Given the description of an element on the screen output the (x, y) to click on. 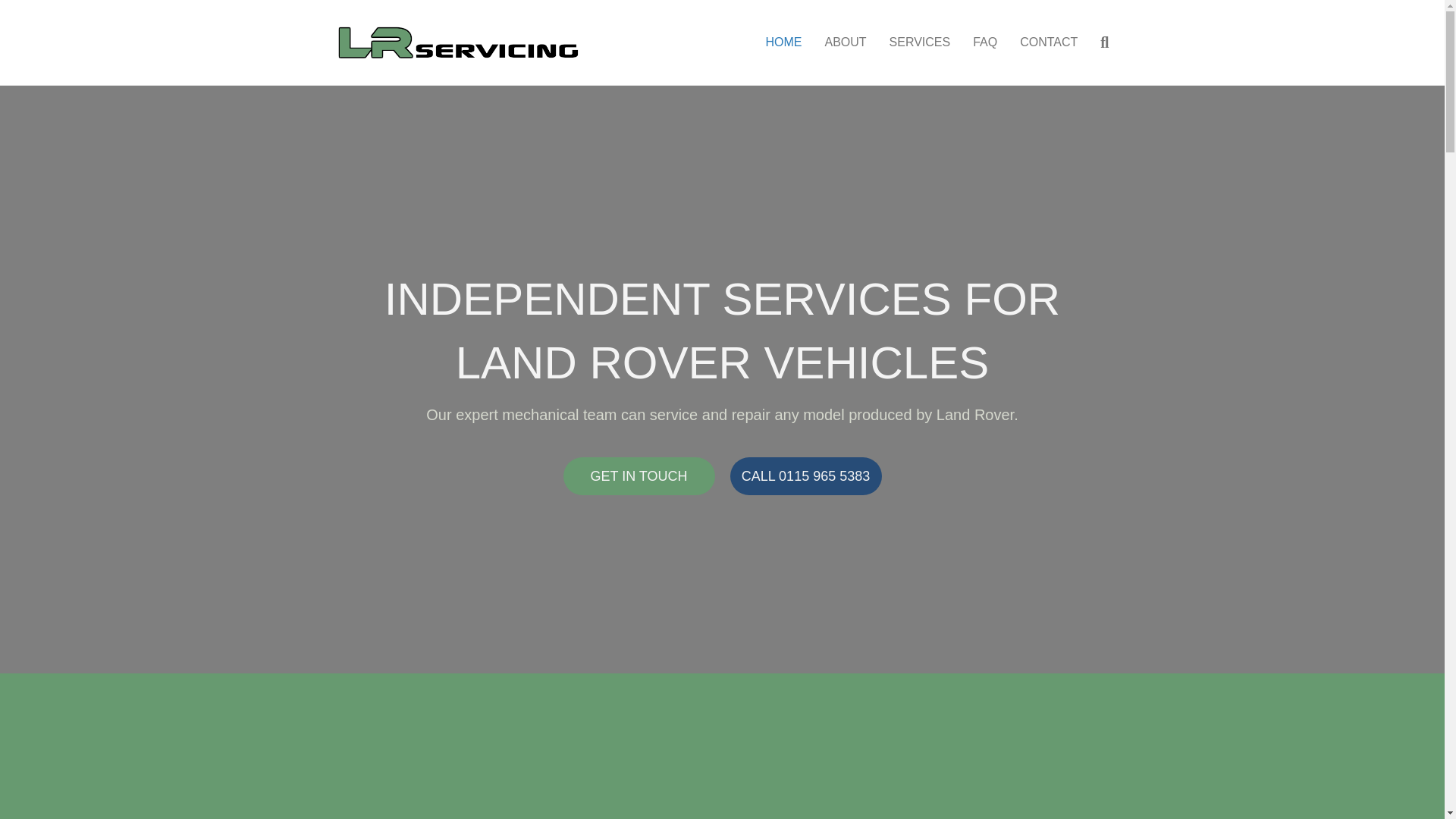
ABOUT (844, 42)
FAQ (984, 42)
SERVICES (919, 42)
CALL 0115 965 5383 (804, 476)
CONTACT (1049, 42)
GET IN TOUCH (638, 476)
HOME (783, 42)
